Given the description of an element on the screen output the (x, y) to click on. 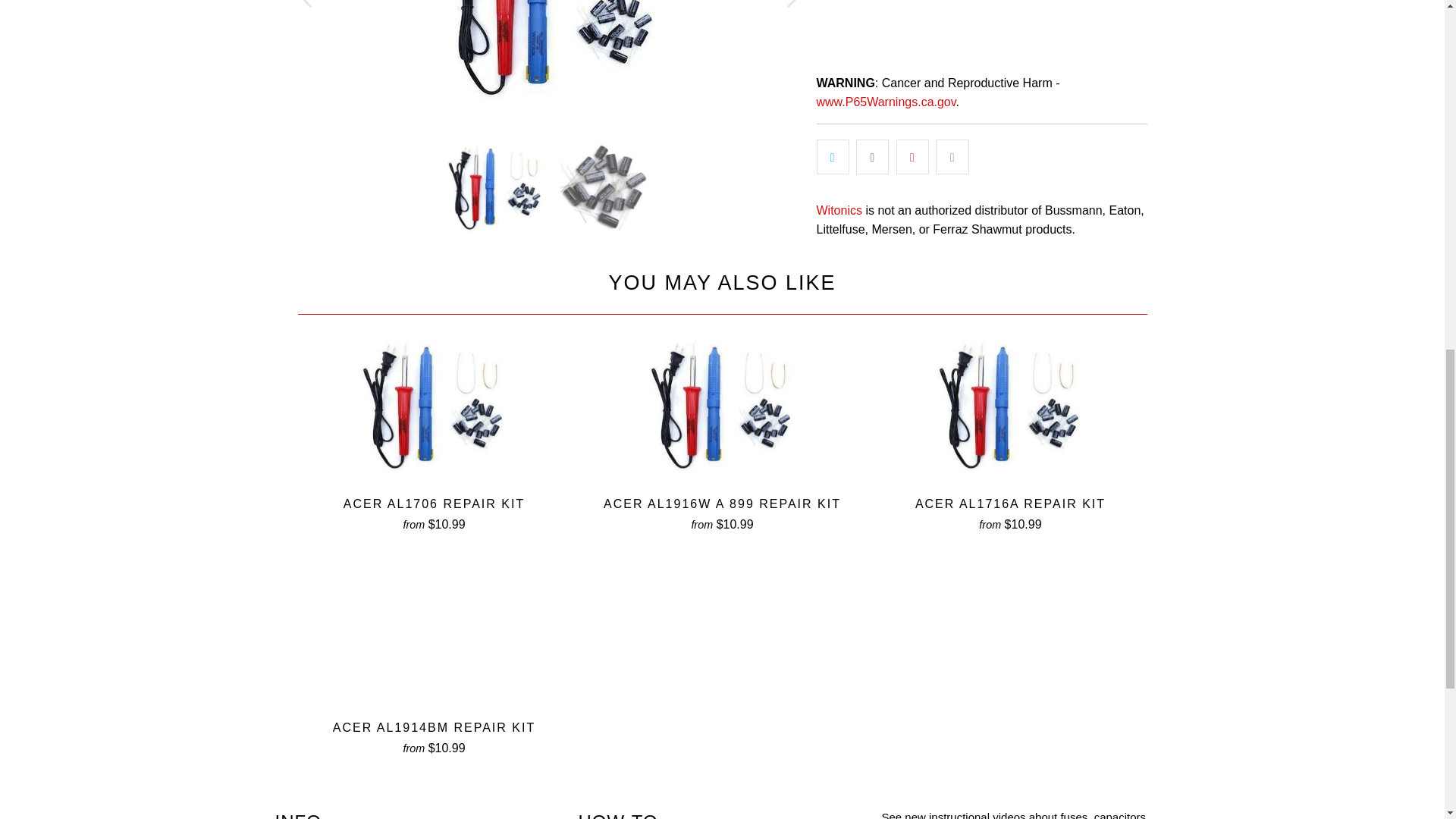
Share this on Facebook (872, 156)
Share this on Pinterest (912, 156)
Share this on Twitter (831, 156)
Email this to a friend (952, 156)
